Given the description of an element on the screen output the (x, y) to click on. 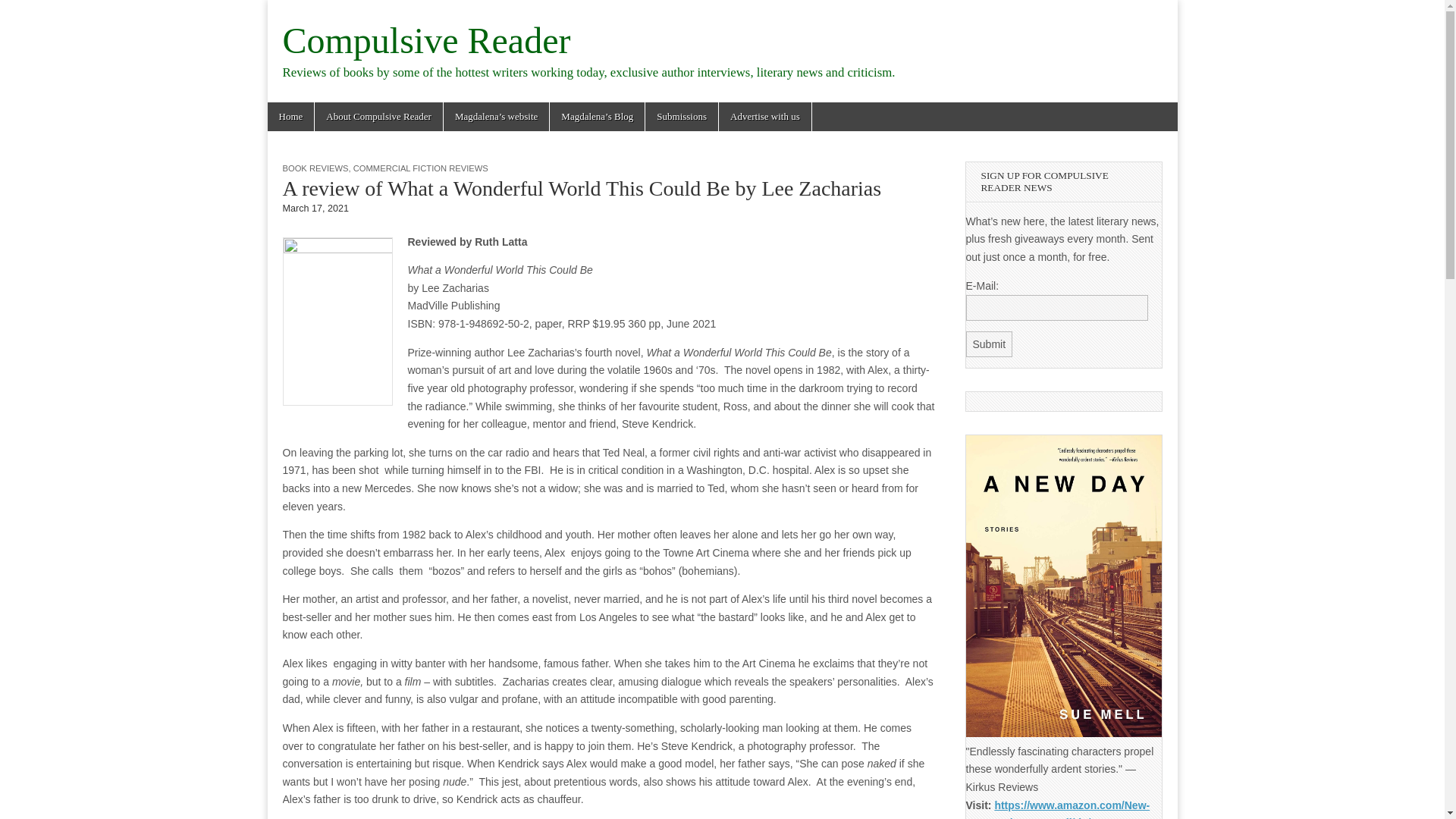
Advertise with us (764, 116)
BOOK REVIEWS (314, 167)
About Compulsive Reader (378, 116)
Home (290, 116)
Compulsive Reader (426, 40)
Submit (989, 344)
Compulsive Reader (426, 40)
COMMERCIAL FICTION REVIEWS (420, 167)
